Given the description of an element on the screen output the (x, y) to click on. 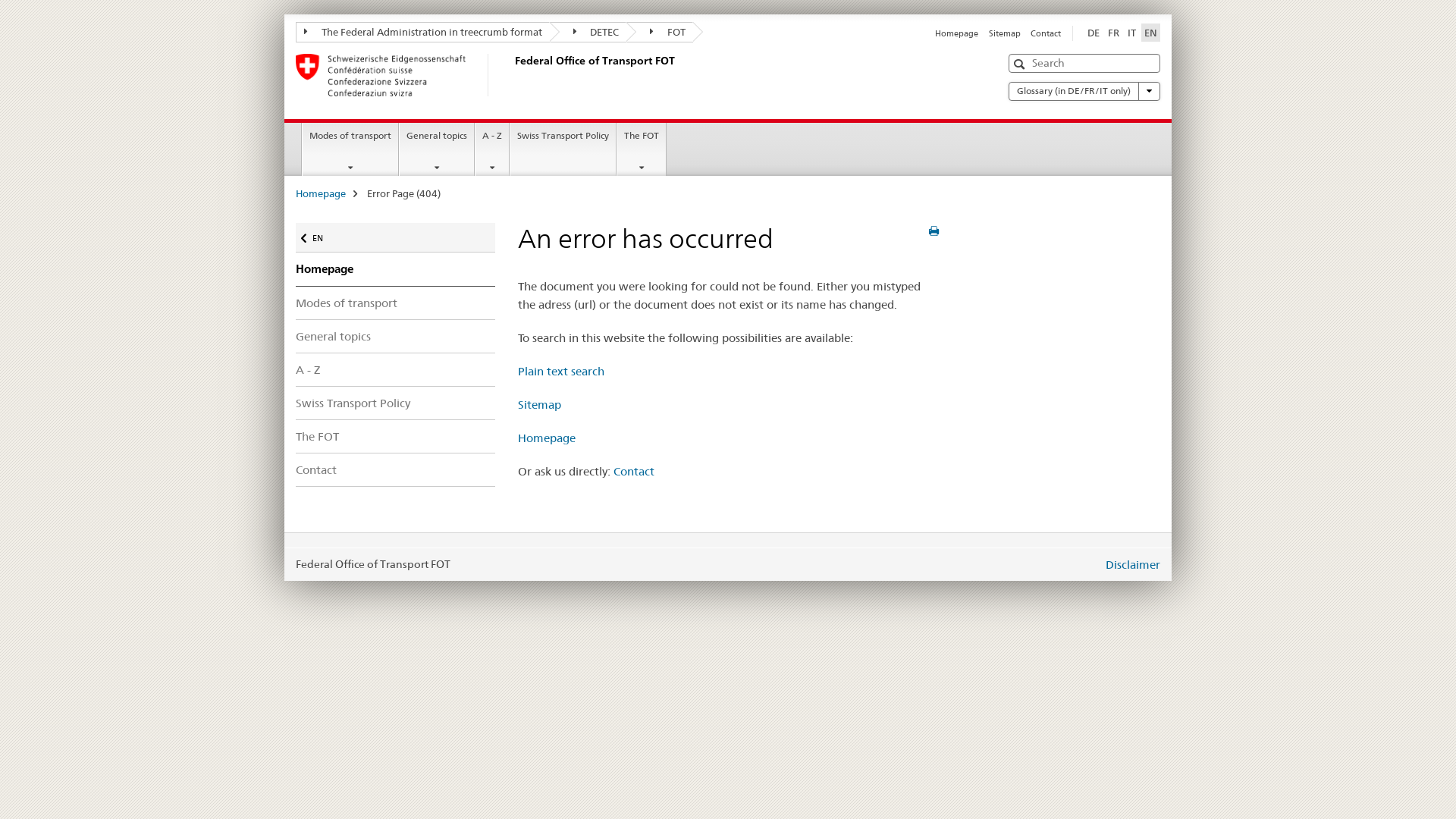
DETEC Element type: text (587, 31)
Homepage Element type: text (320, 193)
Search Element type: text (1020, 63)
A - Z Element type: text (395, 369)
Swiss Transport Policy Element type: text (562, 148)
The FOT Element type: text (395, 436)
General topics Element type: text (436, 148)
Sitemap Element type: text (538, 404)
Modes of transport Element type: text (350, 148)
EN Element type: text (1150, 32)
FOT Element type: text (659, 31)
IT Element type: text (1131, 32)
Federal Office of Transport FOT Element type: text (511, 74)
A - Z Element type: text (491, 148)
The Federal Administration in treecrumb format Element type: text (422, 31)
Homepage Element type: text (956, 33)
Modes of transport Element type: text (395, 302)
General topics Element type: text (395, 336)
Contact Element type: text (632, 471)
Contact Element type: text (395, 469)
Swiss Transport Policy Element type: text (395, 402)
Sitemap Element type: text (1004, 33)
Glossary (in DE/FR/IT only) Element type: text (1084, 90)
Print this page Element type: hover (933, 230)
Homepage Element type: text (395, 268)
Disclaimer Element type: text (1132, 564)
FR Element type: text (1113, 32)
Homepage Element type: text (545, 437)
DE Element type: text (1093, 32)
The FOT Element type: text (641, 148)
Contact Element type: text (1045, 33)
Plain text search Element type: text (560, 371)
